Given the description of an element on the screen output the (x, y) to click on. 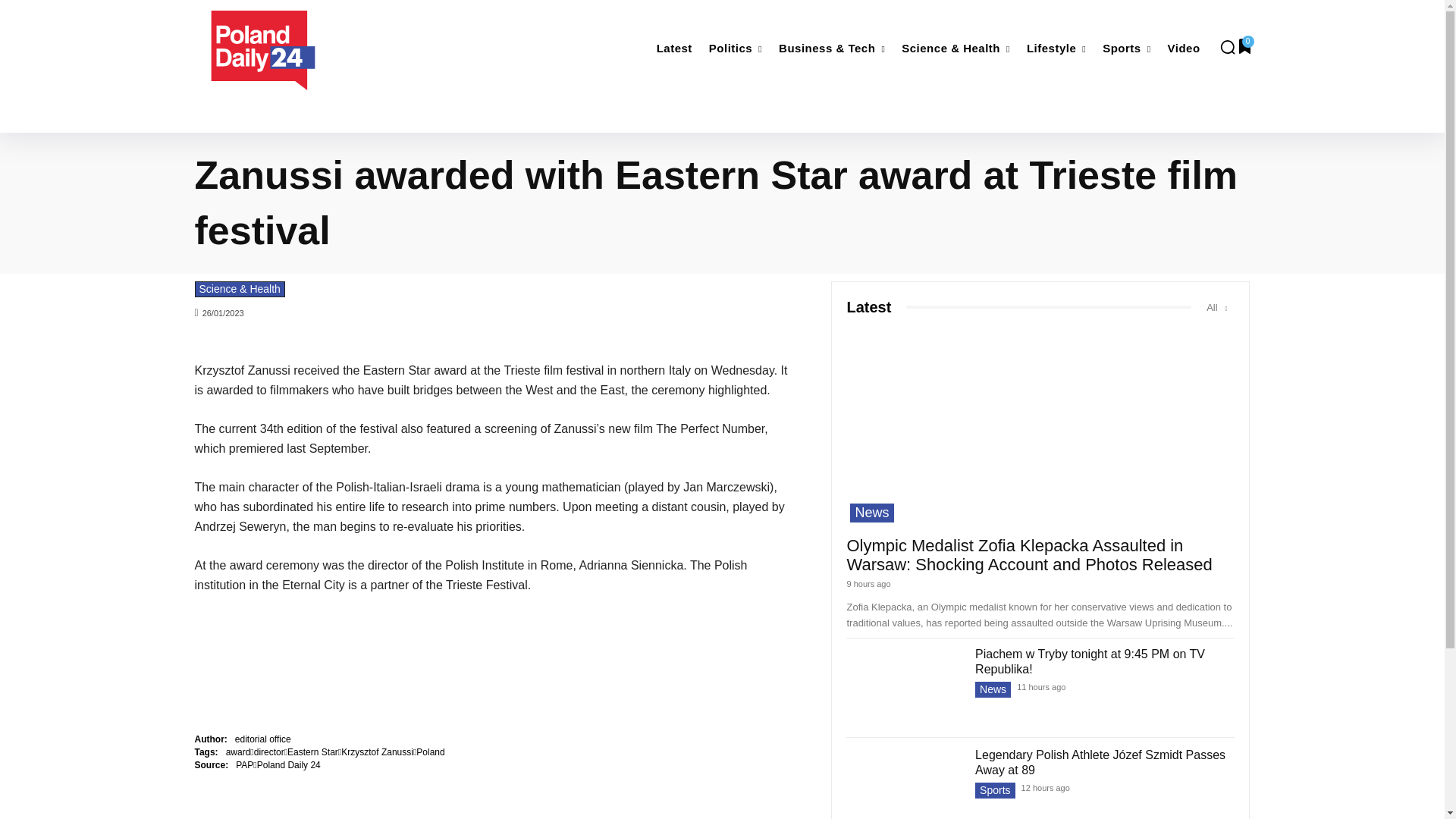
Politics (735, 48)
